Given the description of an element on the screen output the (x, y) to click on. 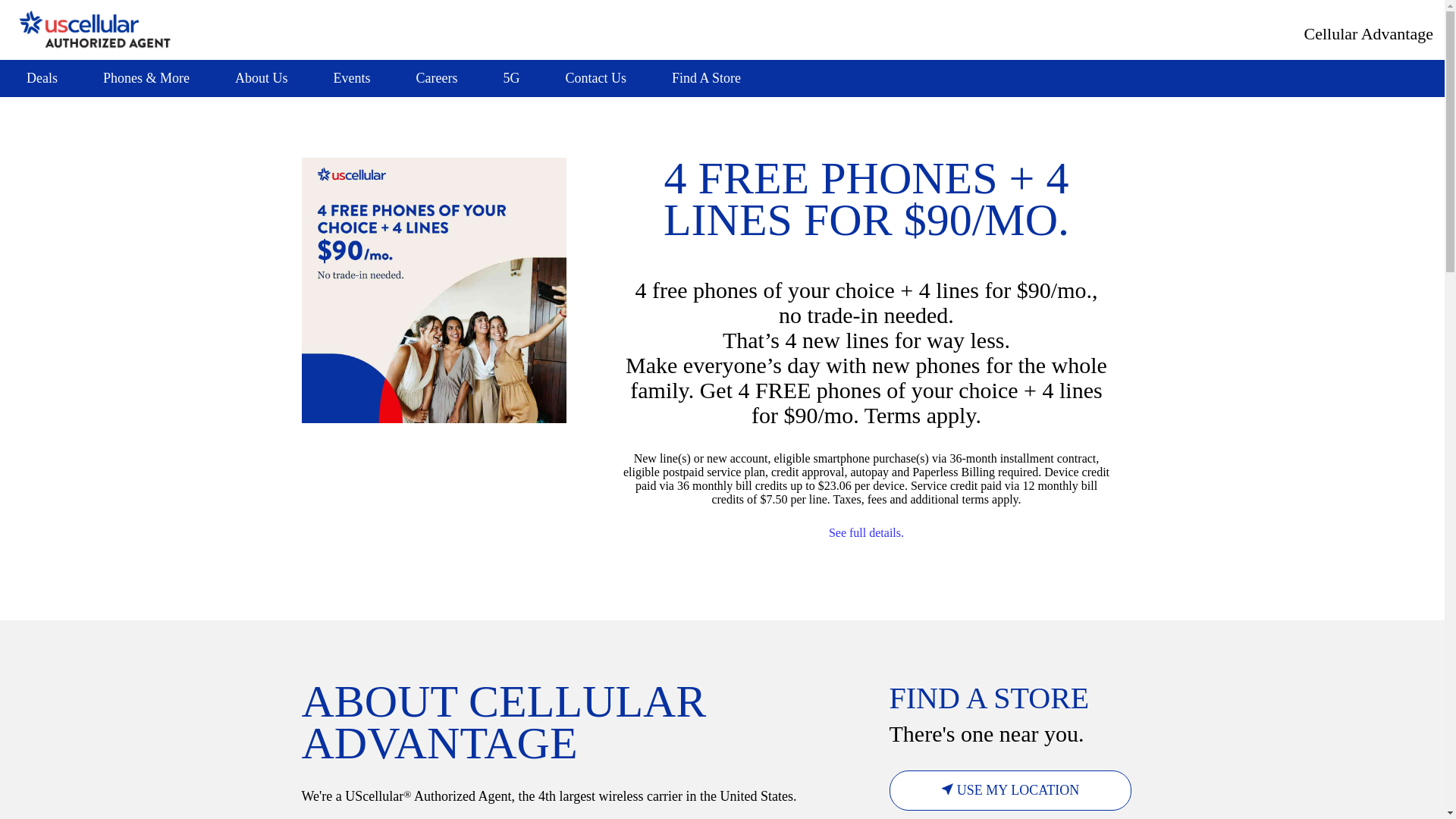
Contact Us (595, 78)
USE MY LOCATION (1009, 790)
Deals (41, 78)
Find A Store (705, 78)
About Us (260, 78)
Events (351, 78)
See full details. (866, 532)
Careers (435, 78)
